Given the description of an element on the screen output the (x, y) to click on. 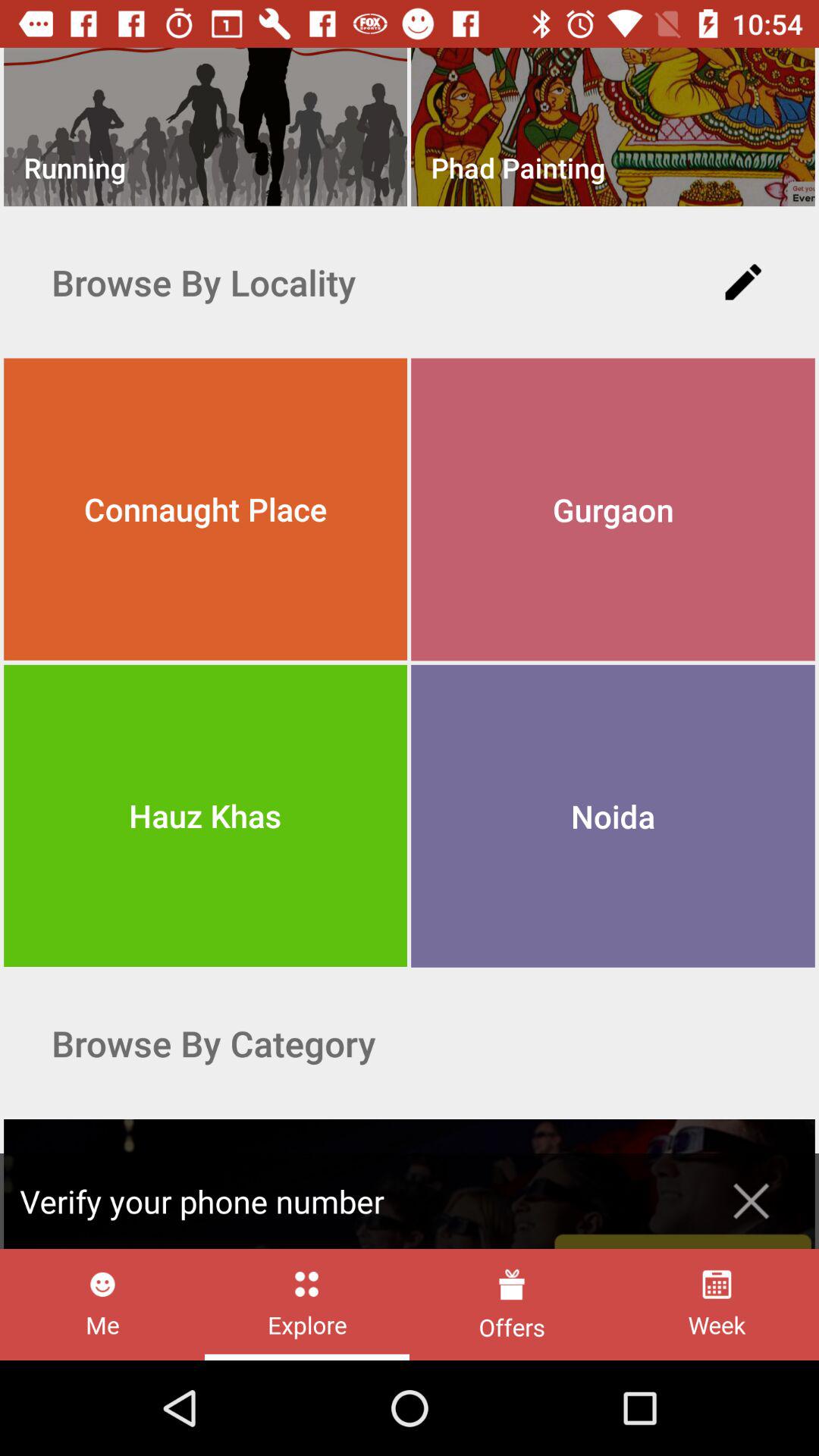
choose the item to the right of the offers icon (716, 1304)
